Given the description of an element on the screen output the (x, y) to click on. 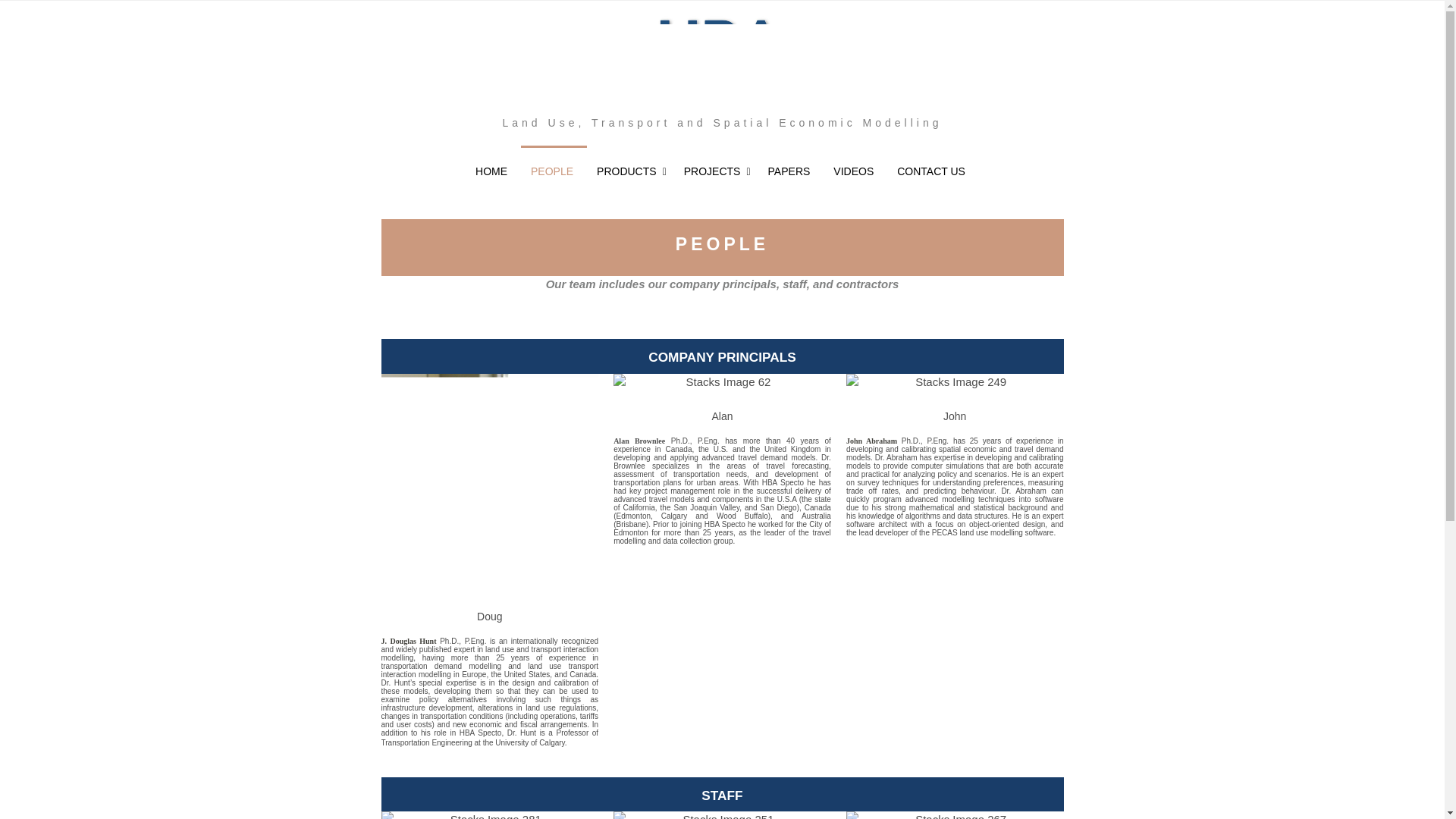
PAPERS (791, 172)
CONTACT US (932, 172)
PEOPLE (553, 170)
HOME (493, 172)
PROJECTS (716, 172)
PRODUCTS (630, 172)
VIDEOS (855, 172)
